Given the description of an element on the screen output the (x, y) to click on. 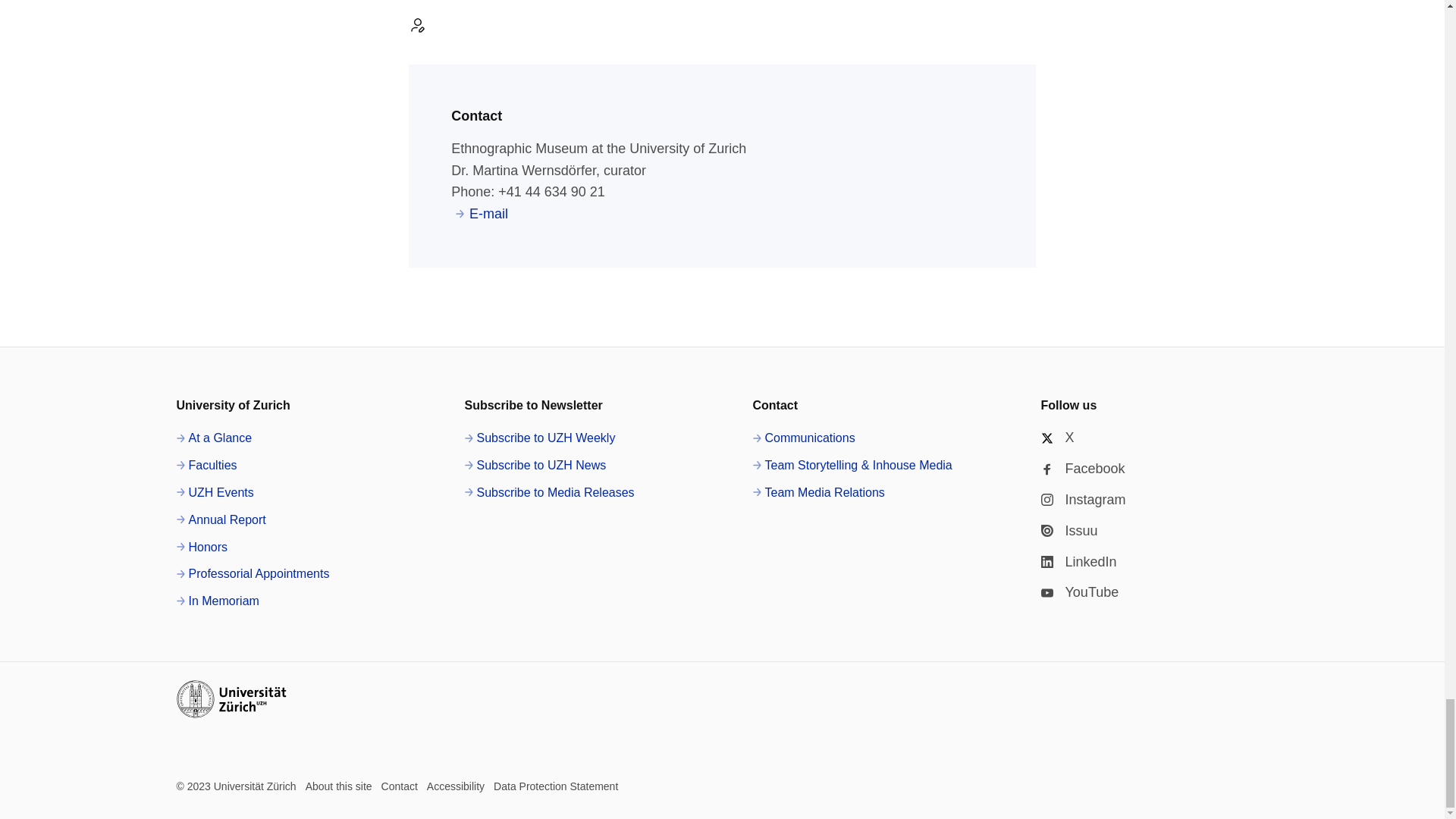
UZH Events (214, 492)
Honors (201, 547)
Professorial Appointments  (252, 573)
In Memoriam (217, 600)
Team Media Relations (817, 492)
At a Glance (213, 437)
Subscribe to Media Releases (548, 492)
Annual Report (220, 519)
Faculties (205, 465)
Subscribe to UZH News (534, 465)
